Given the description of an element on the screen output the (x, y) to click on. 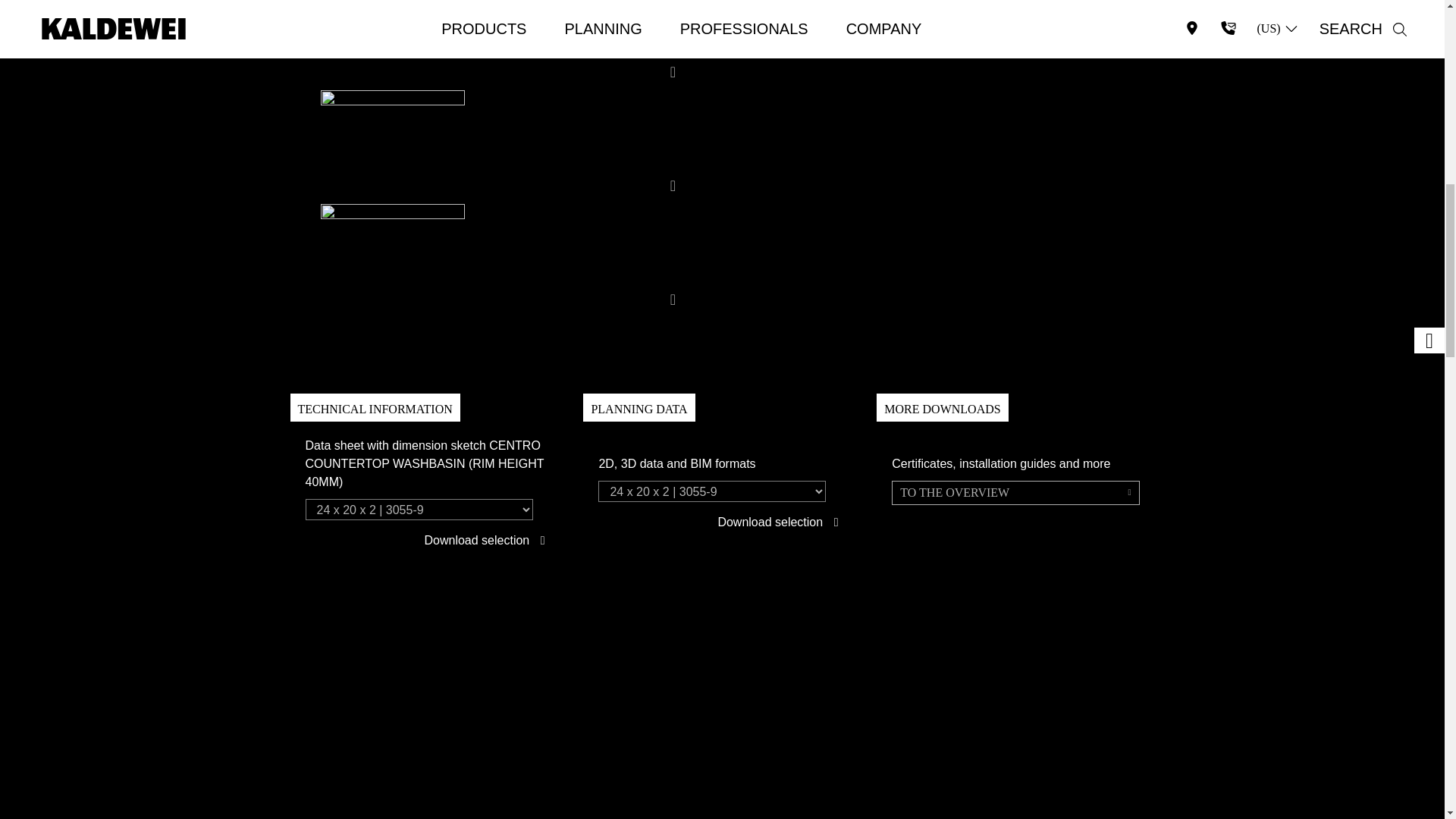
Download selection (487, 540)
Download selection (781, 521)
TO THE OVERVIEW (1014, 492)
